Given the description of an element on the screen output the (x, y) to click on. 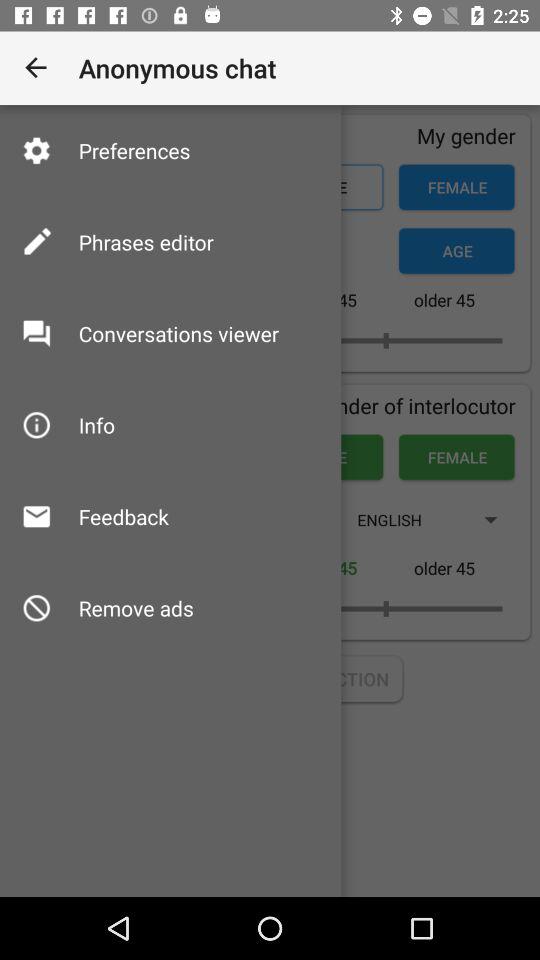
tap item above feedback icon (96, 424)
